Given the description of an element on the screen output the (x, y) to click on. 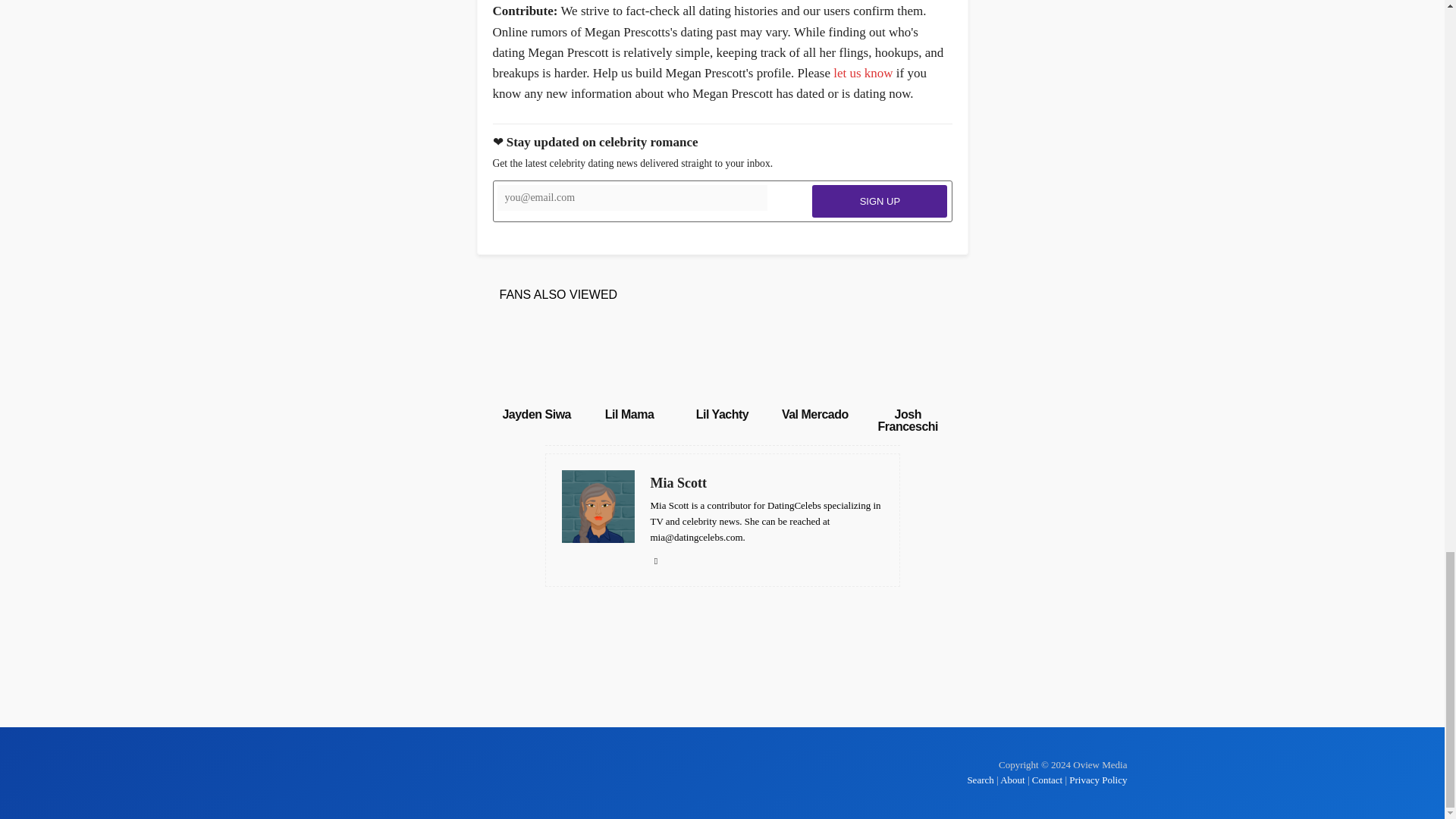
Jayden Siwa (536, 413)
About (1012, 779)
Jayden Siwa (536, 360)
SIGN UP (879, 201)
Val Mercado (814, 413)
Josh Franceschi (907, 420)
SIGN UP (879, 201)
Lil Yachty (721, 413)
Jayden Siwa (536, 413)
let us know (862, 73)
